Given the description of an element on the screen output the (x, y) to click on. 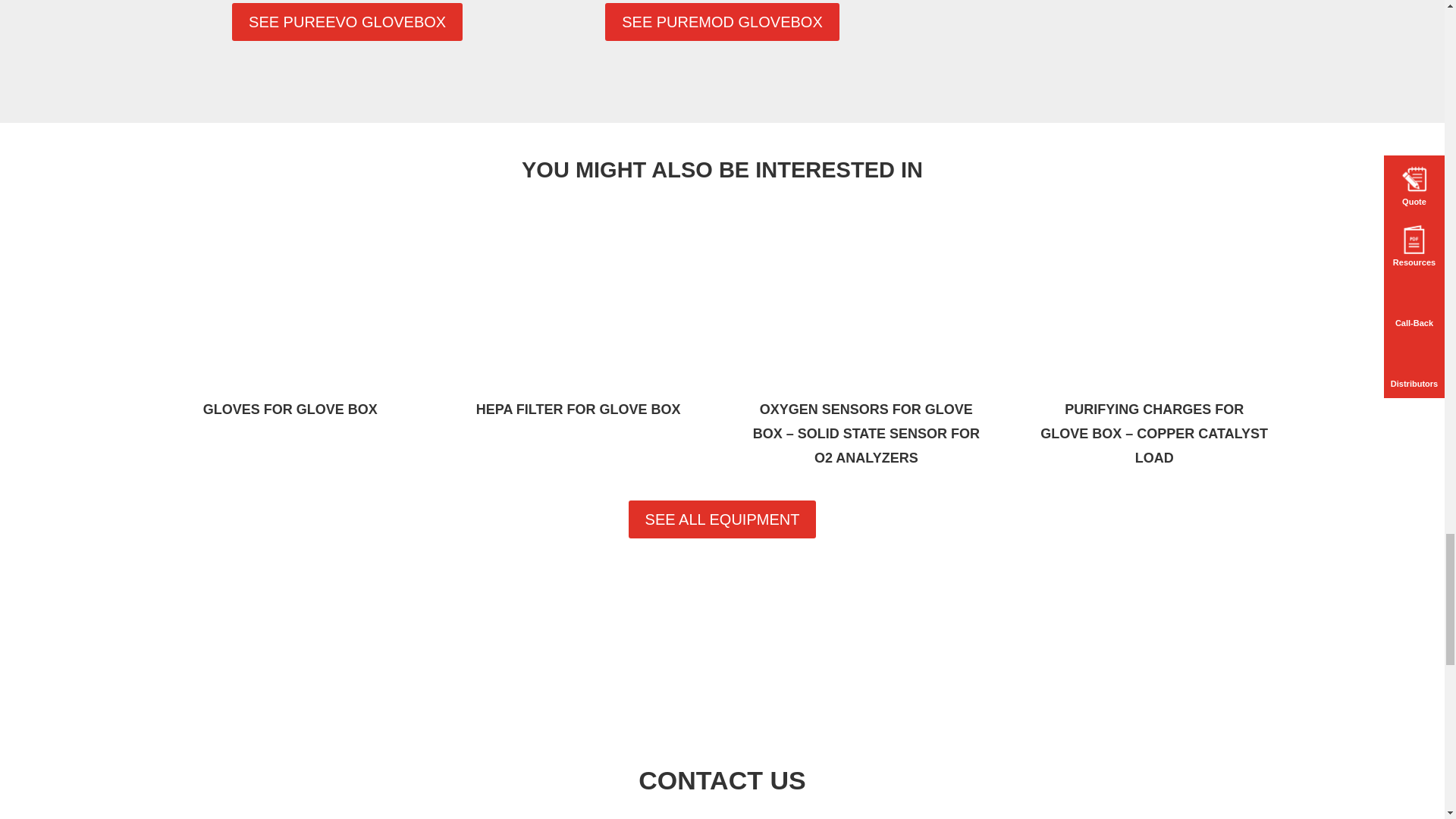
Gloves for Glove Box (290, 308)
